Given the description of an element on the screen output the (x, y) to click on. 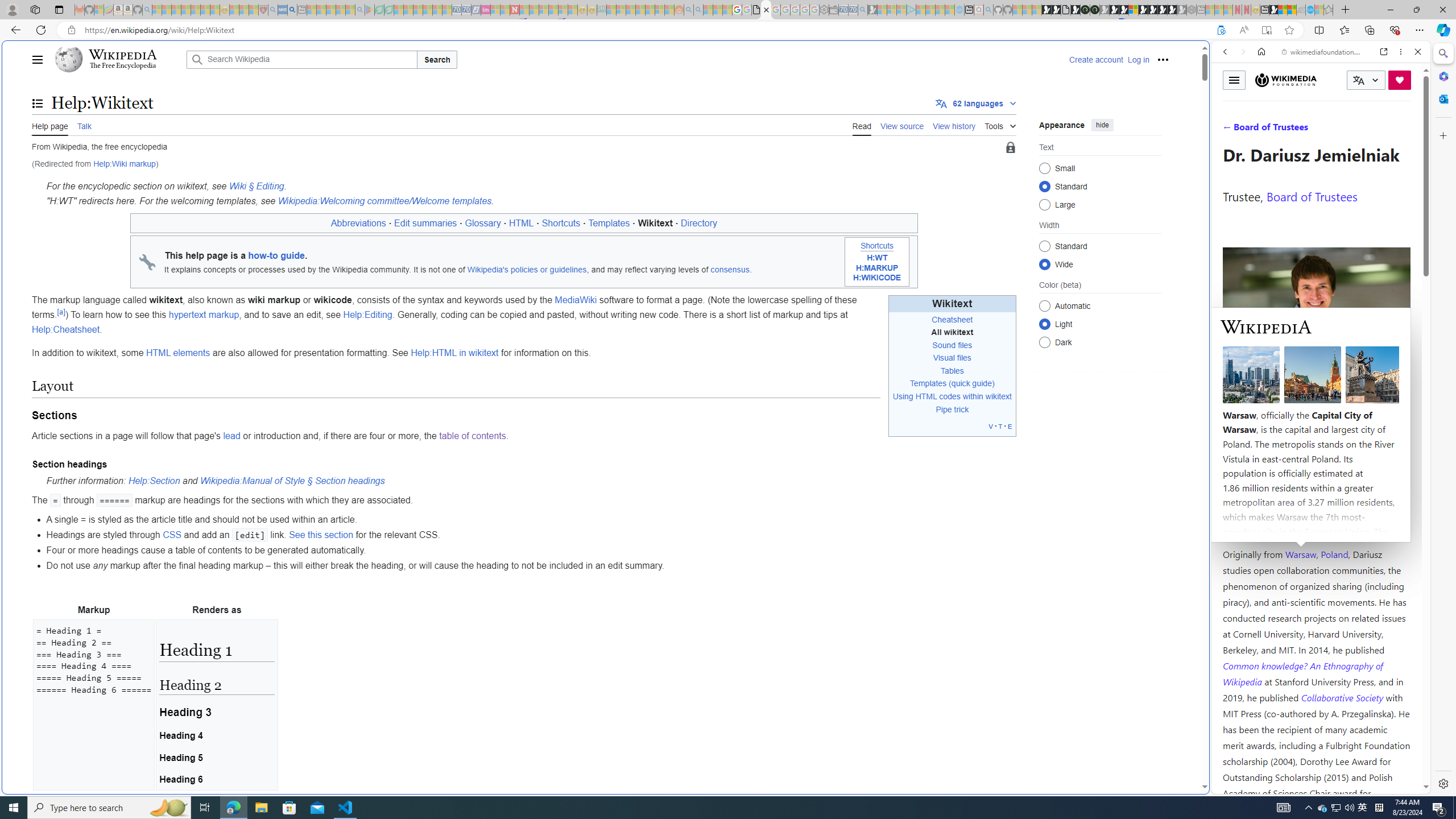
Board of Trustees (1311, 195)
Support Wikipedia? (1220, 29)
Sound files (951, 344)
Search or enter web address (922, 108)
lead (231, 435)
Using HTML codes within wikitext (951, 395)
